Given the description of an element on the screen output the (x, y) to click on. 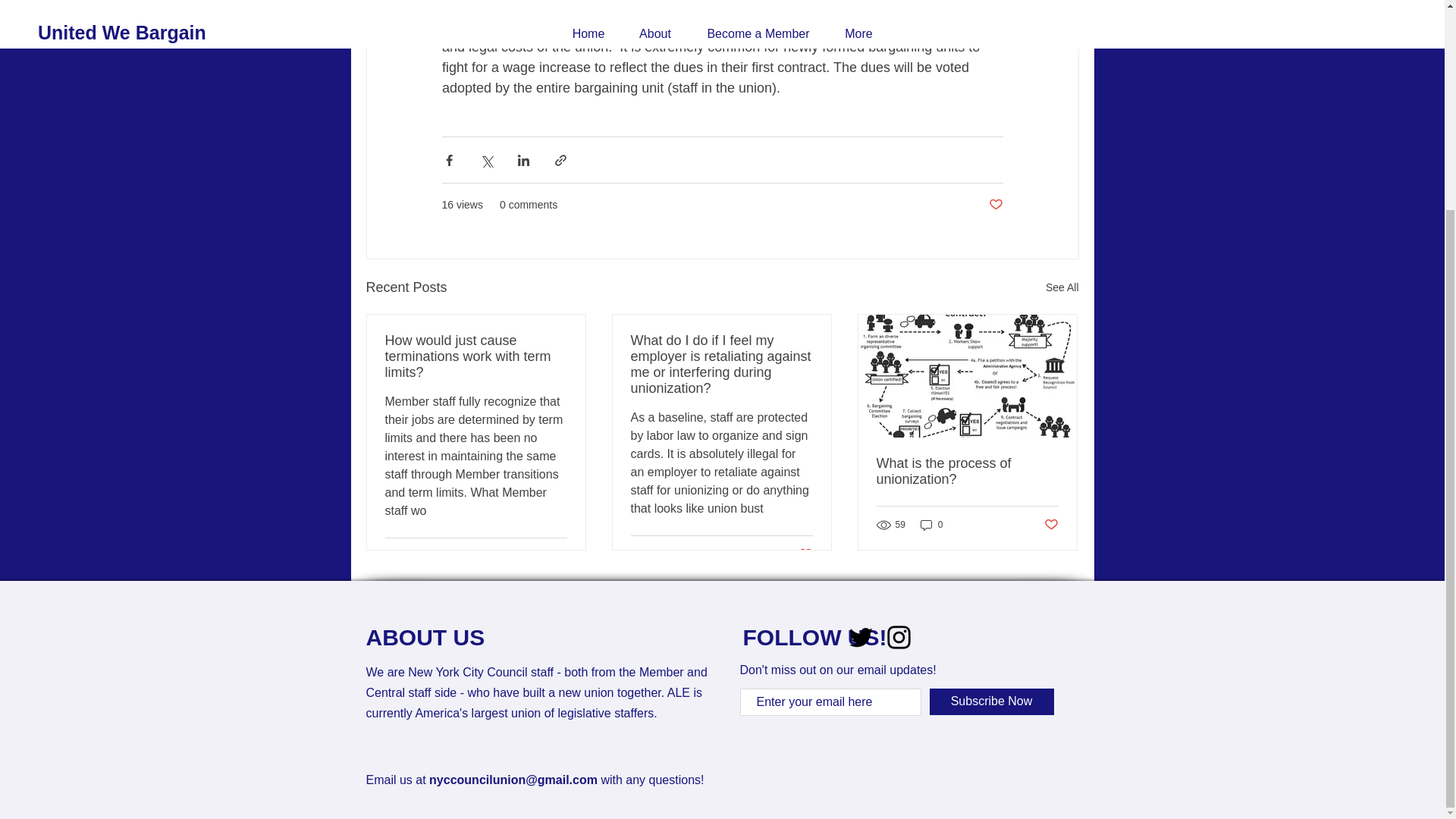
Subscribe Now (992, 701)
0 (931, 524)
Post not marked as liked (995, 204)
See All (1061, 287)
Post not marked as liked (1050, 524)
Post not marked as liked (804, 554)
How would just cause terminations work with term limits? (476, 356)
Post not marked as liked (558, 555)
What is the process of unionization? (967, 471)
